Given the description of an element on the screen output the (x, y) to click on. 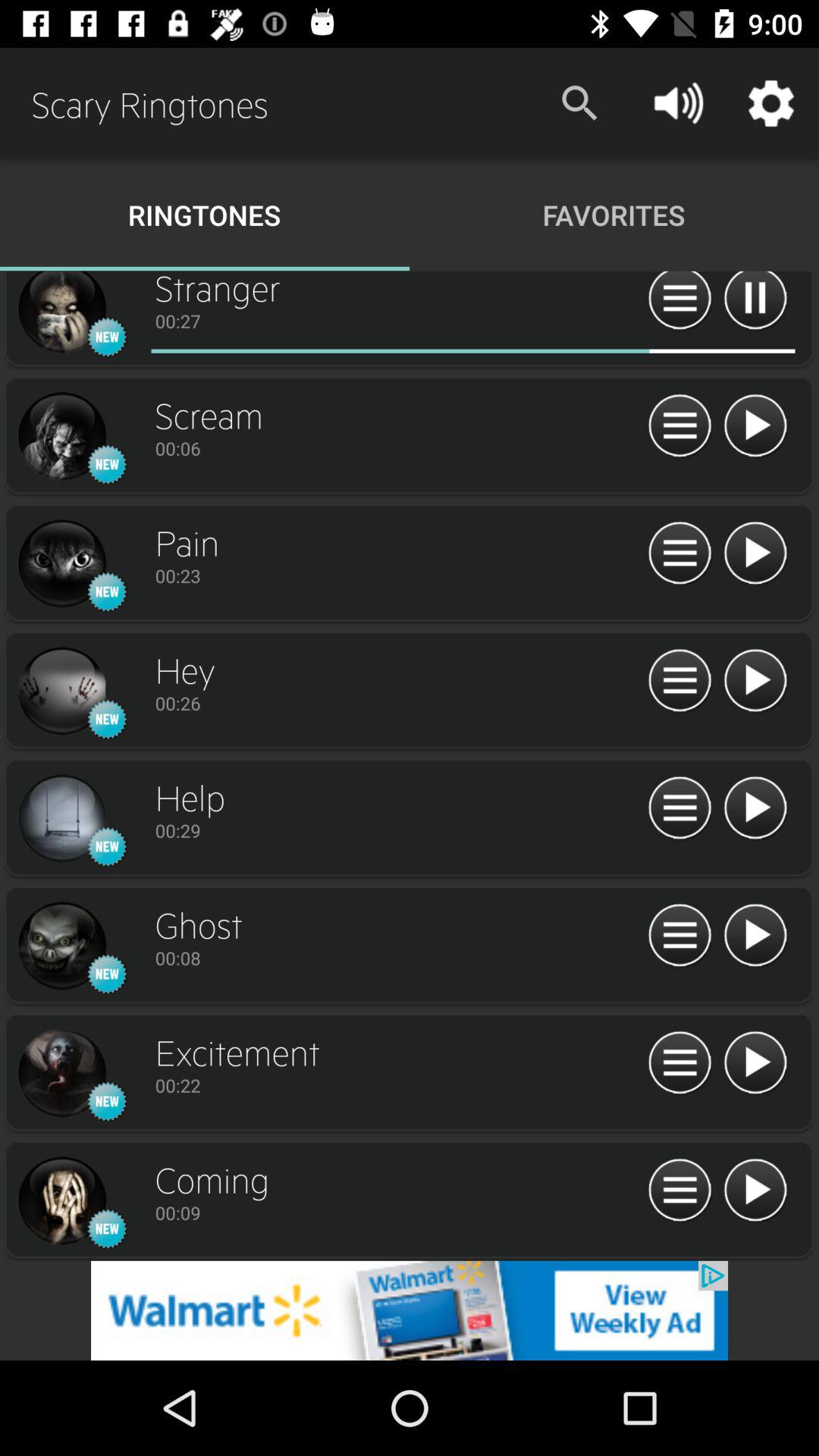
open menu options (679, 553)
